Given the description of an element on the screen output the (x, y) to click on. 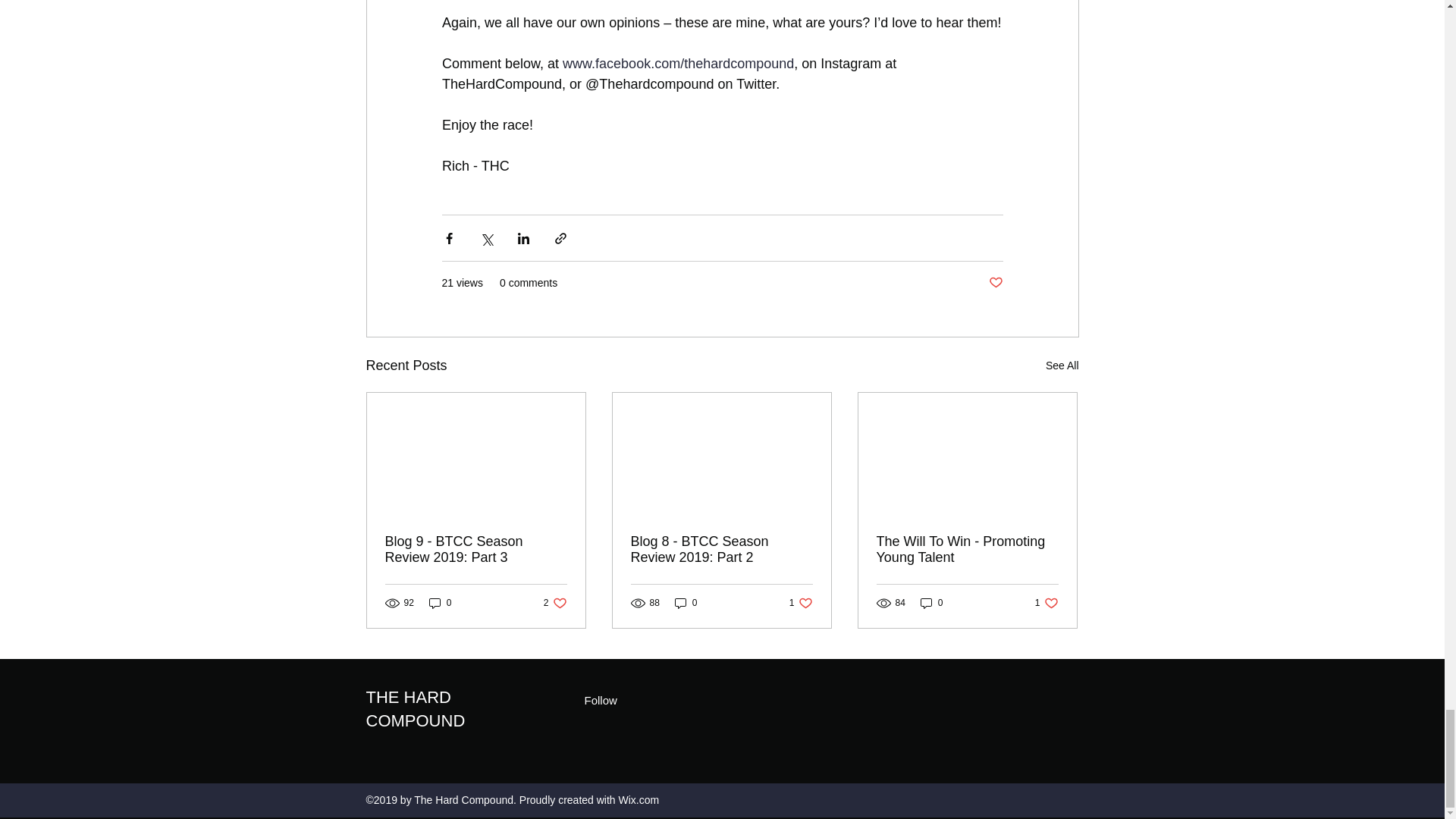
0 (440, 603)
0 (800, 603)
Post not marked as liked (685, 603)
THE HARD COMPOUND (555, 603)
0 (995, 283)
Blog 9 - BTCC Season Review 2019: Part 3 (414, 708)
The Will To Win - Promoting Young Talent (931, 603)
See All (476, 549)
Blog 8 - BTCC Season Review 2019: Part 2 (967, 549)
